Given the description of an element on the screen output the (x, y) to click on. 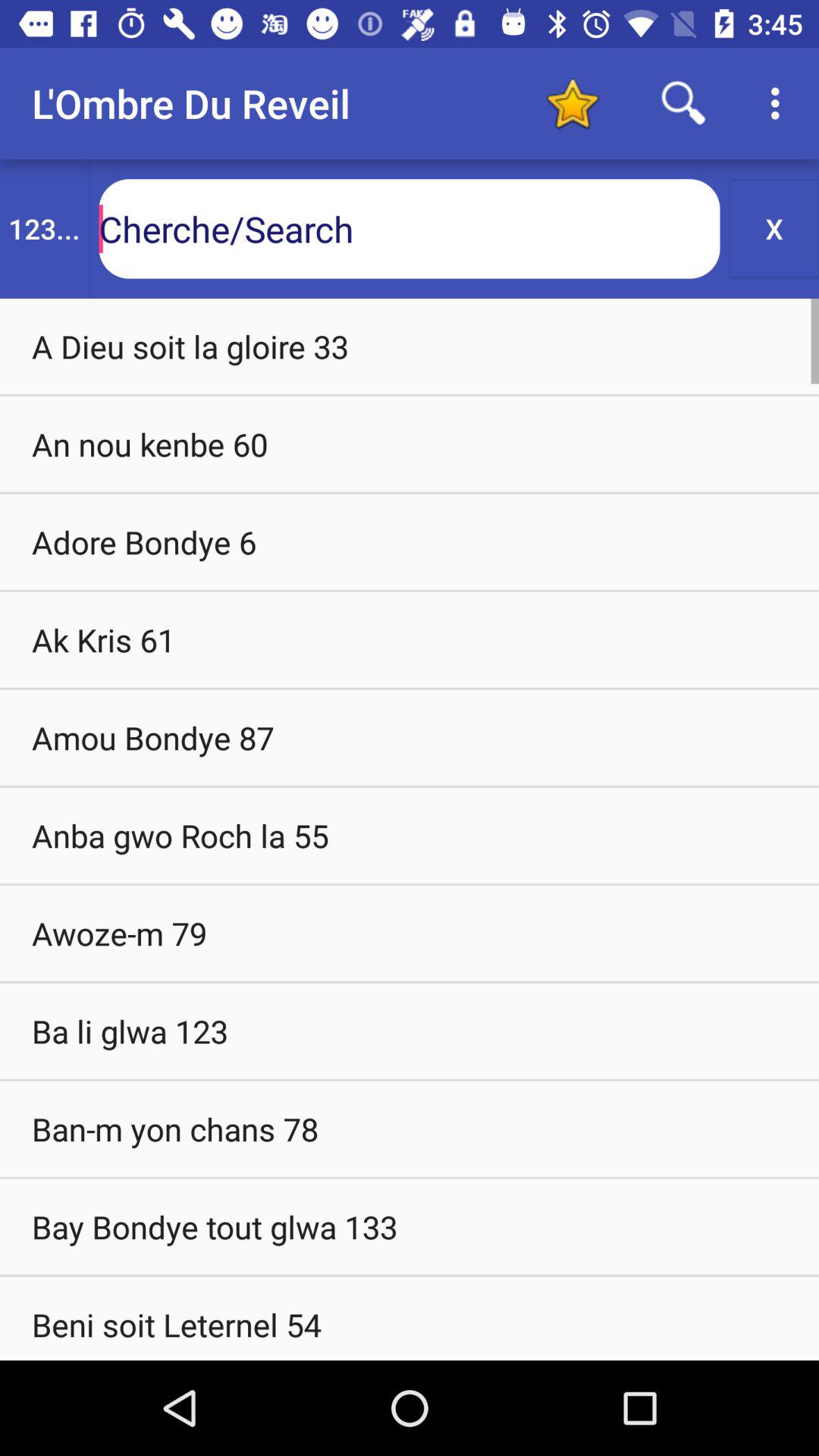
open the icon above amou bondye 87 (409, 639)
